Given the description of an element on the screen output the (x, y) to click on. 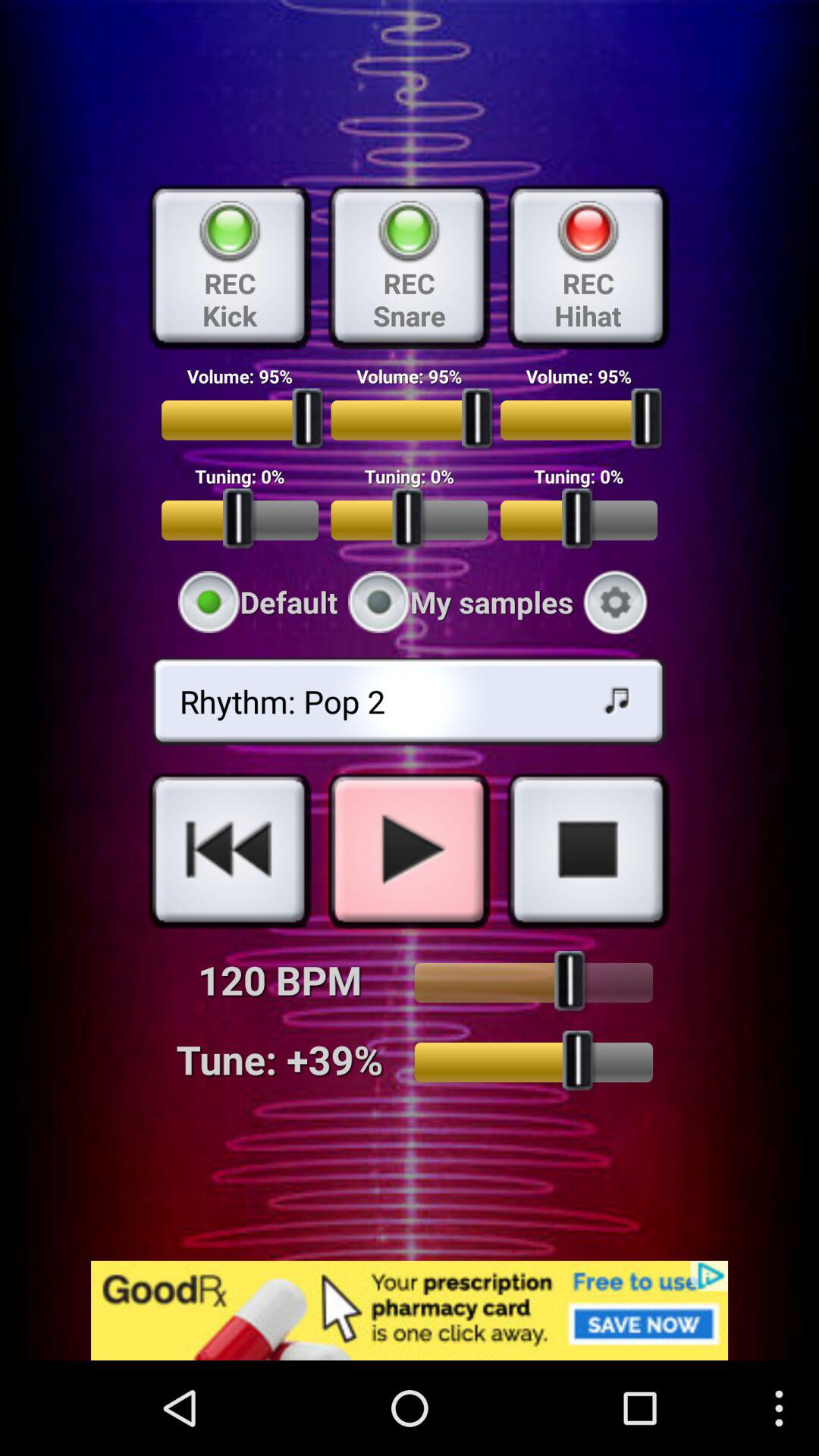
this button is used to stop the audio when playing (587, 850)
